Given the description of an element on the screen output the (x, y) to click on. 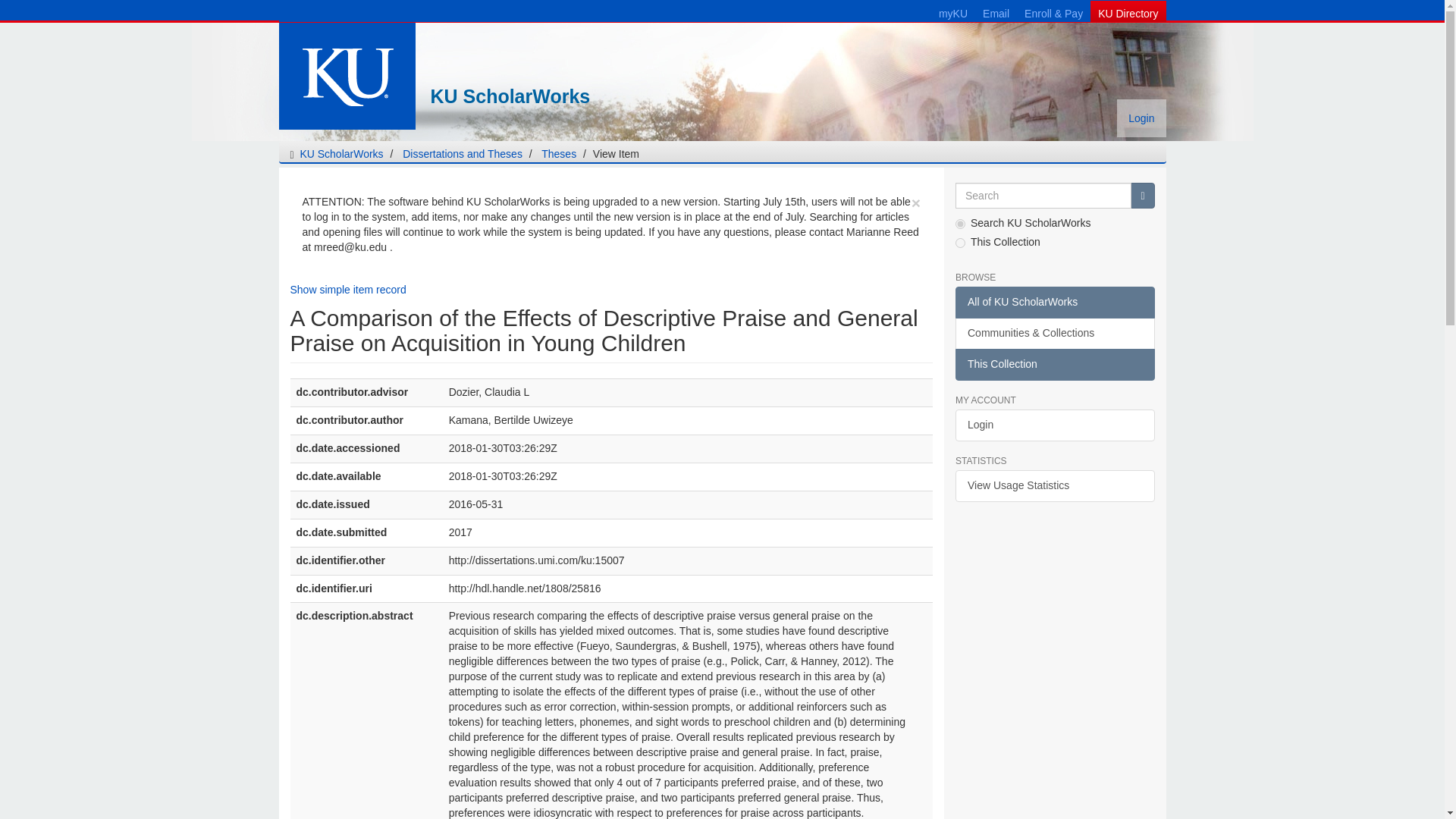
Dissertations and Theses (462, 153)
Login (1141, 118)
Theses (558, 153)
View Usage Statistics (1054, 486)
KU ScholarWorks (340, 153)
myKU (953, 12)
Show simple item record (347, 289)
KU Directory (1128, 12)
Email (995, 12)
Login (1054, 425)
All of KU ScholarWorks (1054, 302)
KU ScholarWorks (581, 96)
This Collection (1054, 364)
Go (1142, 195)
